Given the description of an element on the screen output the (x, y) to click on. 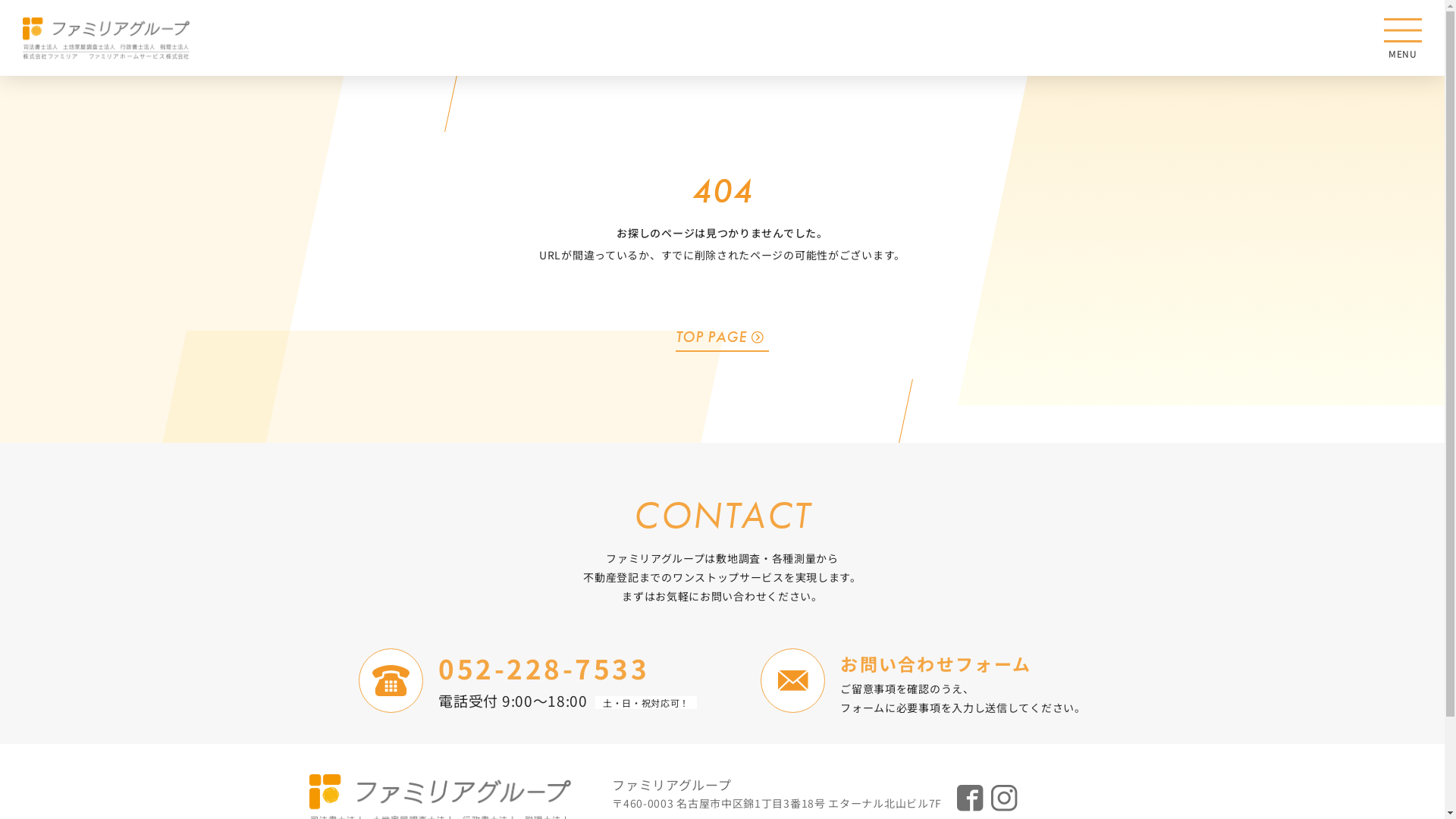
TOP PAGE Element type: text (722, 336)
